Given the description of an element on the screen output the (x, y) to click on. 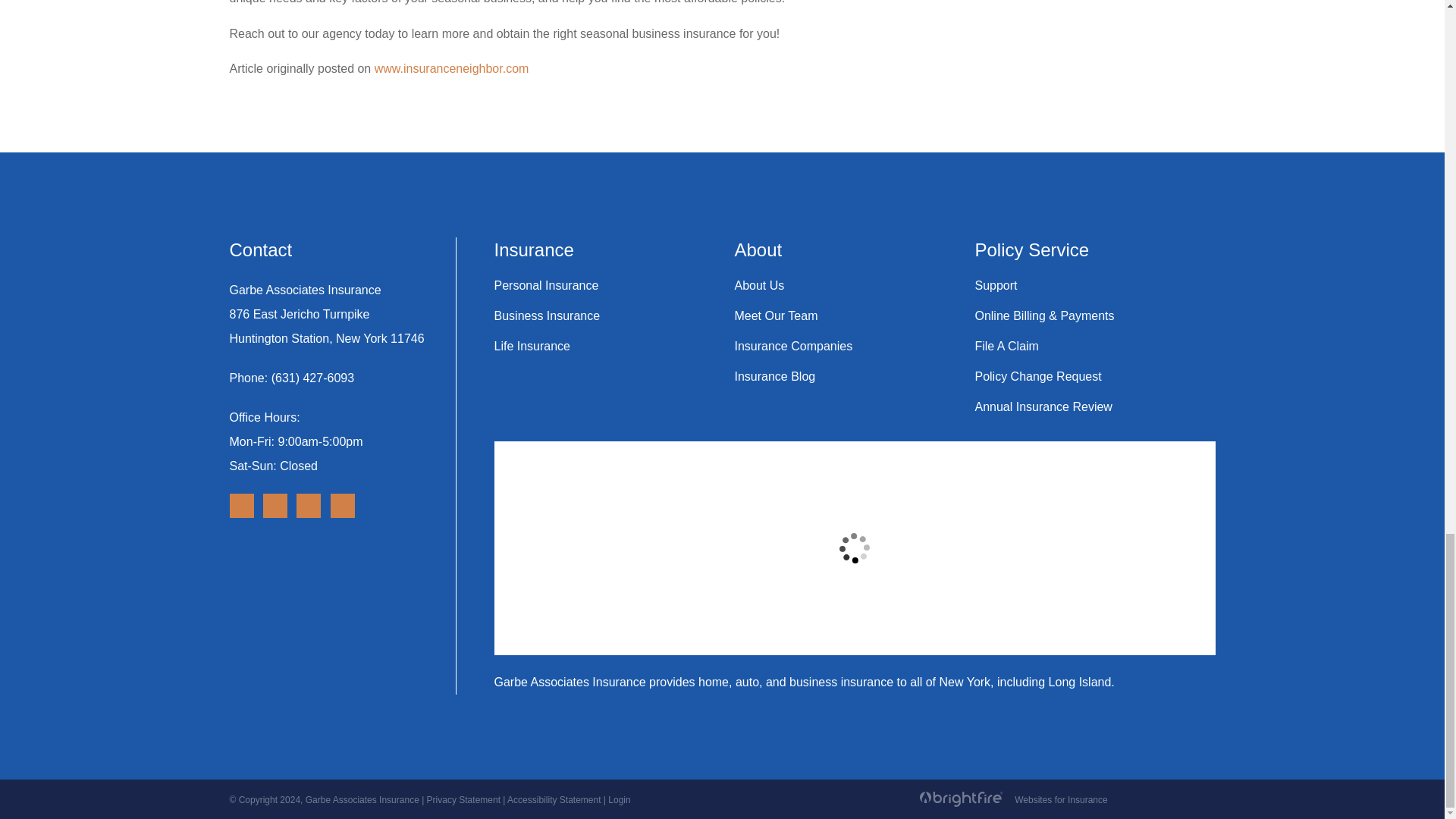
Big I 2023 (302, 605)
